Given the description of an element on the screen output the (x, y) to click on. 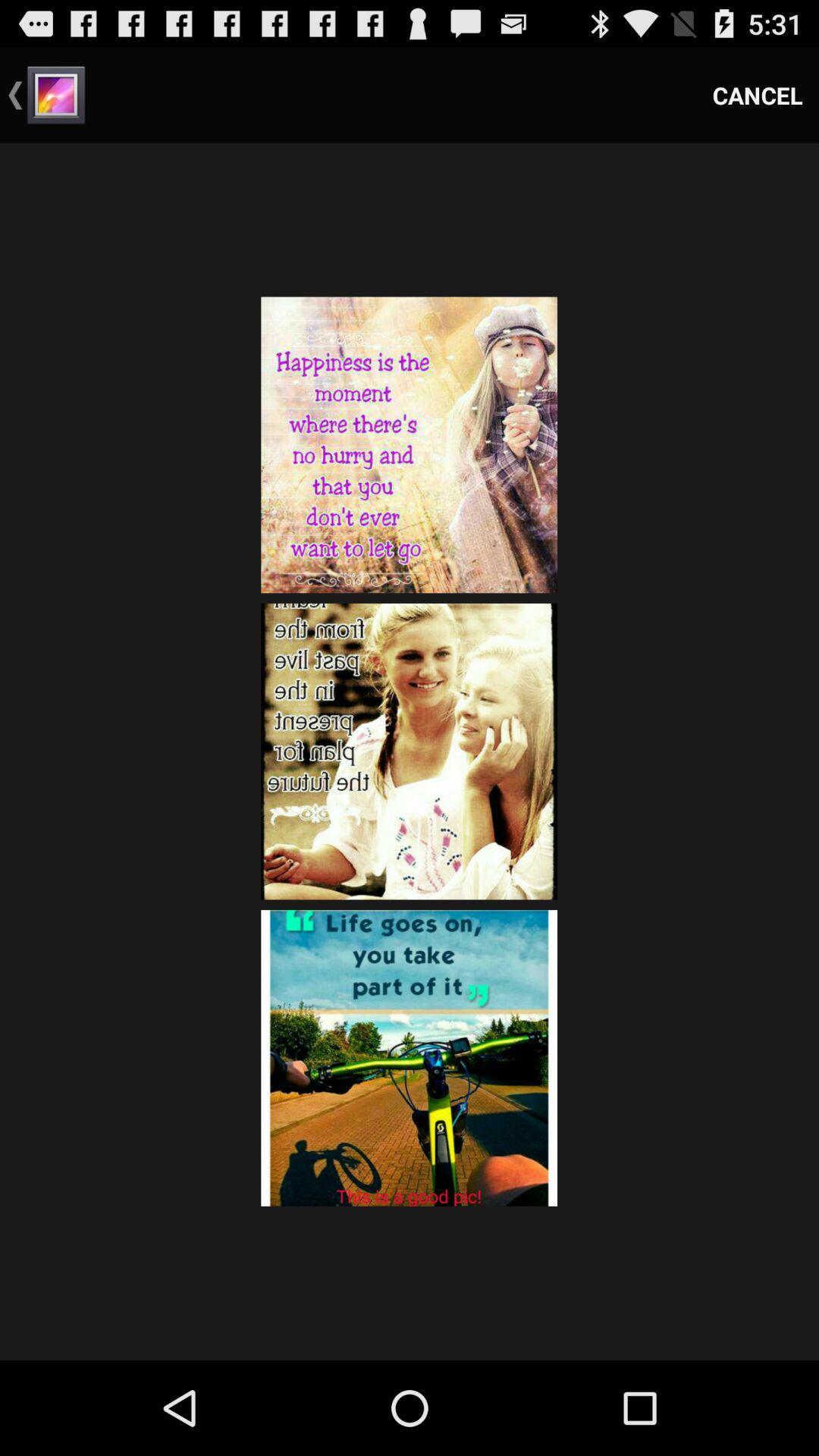
jump until the cancel icon (757, 95)
